Given the description of an element on the screen output the (x, y) to click on. 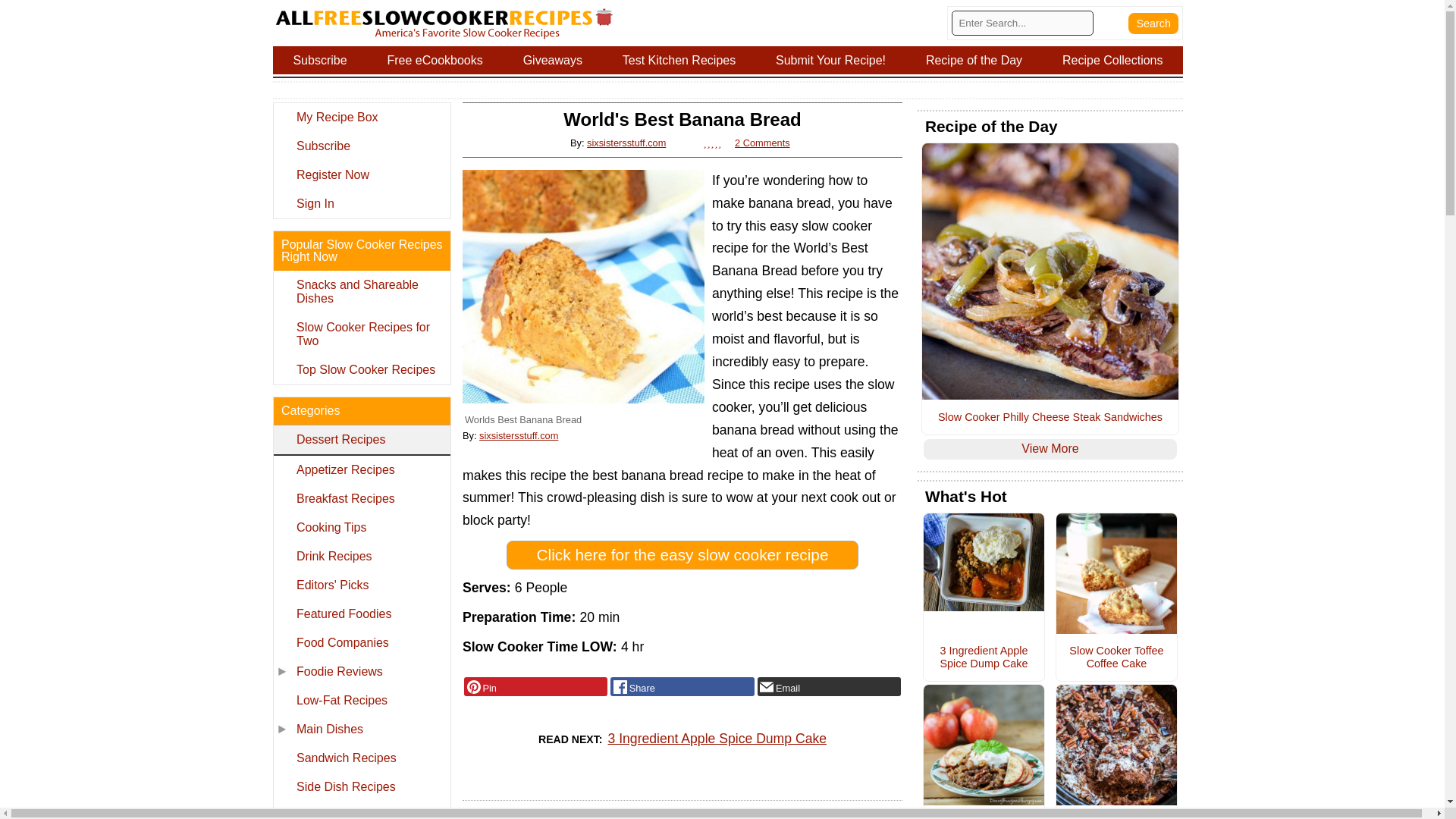
Free eCookbooks (434, 59)
Email (829, 686)
Giveaways (552, 59)
Test Kitchen Recipes (679, 59)
Subscribe (361, 145)
My Recipe Box (361, 117)
Subscribe (319, 59)
Facebook (682, 686)
Register Now (361, 174)
Search (1152, 22)
Sign In (361, 203)
Search (1152, 22)
